Given the description of an element on the screen output the (x, y) to click on. 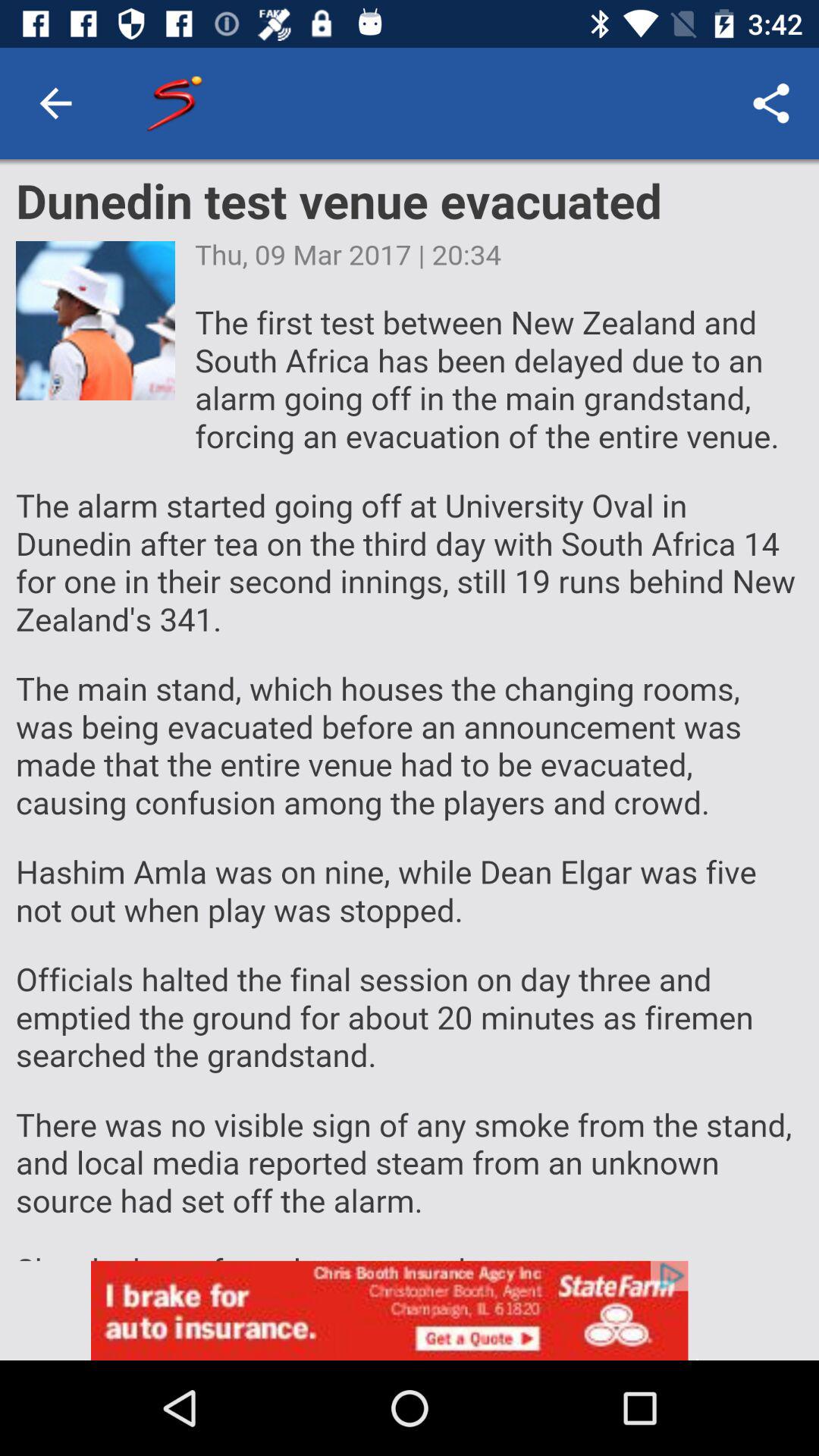
select advertisement (409, 1310)
